Given the description of an element on the screen output the (x, y) to click on. 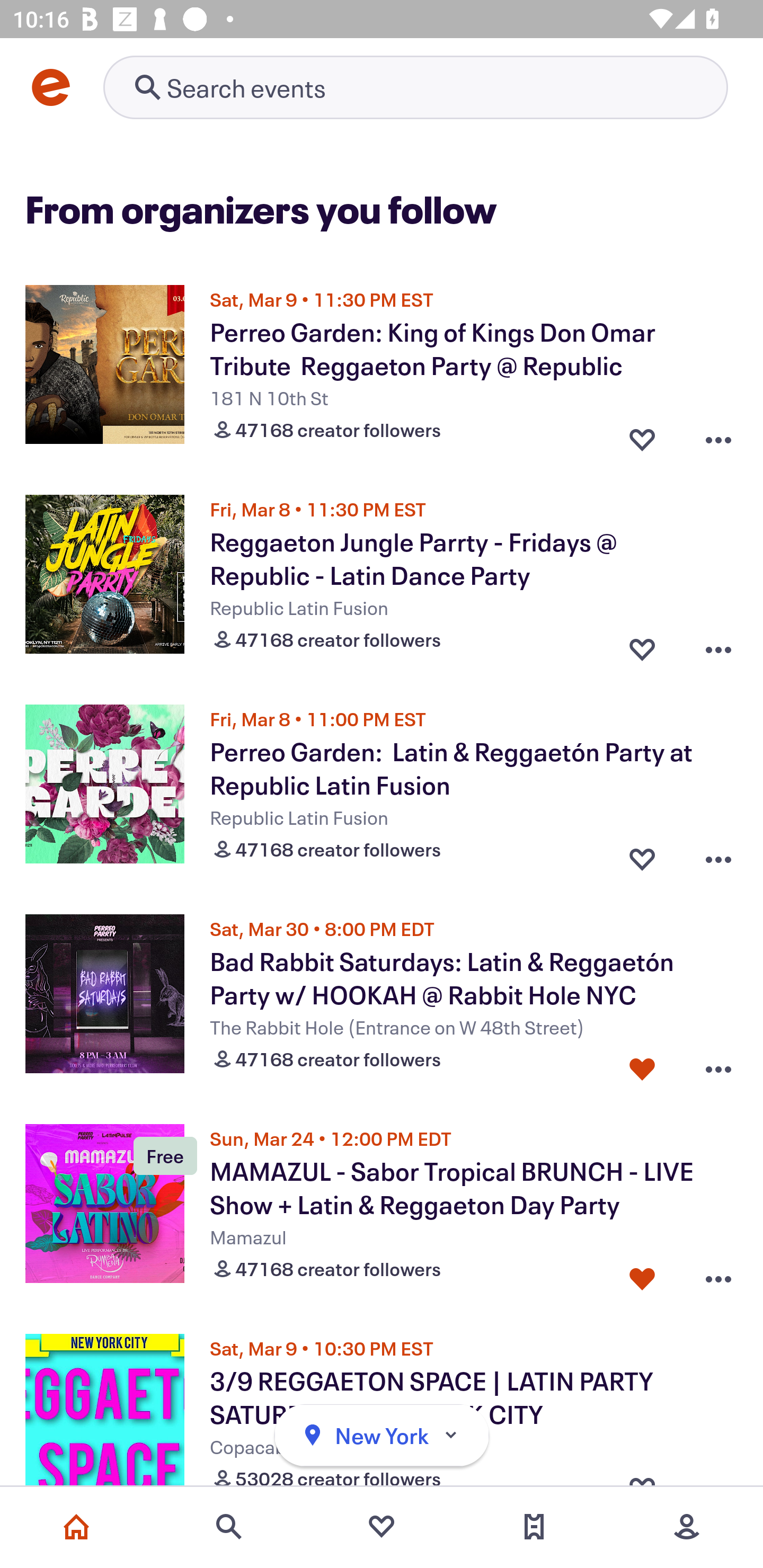
Retry's image Search events (415, 86)
Favorite button (642, 434)
Overflow menu button (718, 434)
Favorite button (642, 644)
Overflow menu button (718, 644)
Favorite button (642, 855)
Overflow menu button (718, 855)
Favorite button (642, 1065)
Overflow menu button (718, 1065)
Favorite button (642, 1274)
Overflow menu button (718, 1274)
New York (381, 1435)
Home (76, 1526)
Search events (228, 1526)
Favorites (381, 1526)
Tickets (533, 1526)
More (686, 1526)
